Given the description of an element on the screen output the (x, y) to click on. 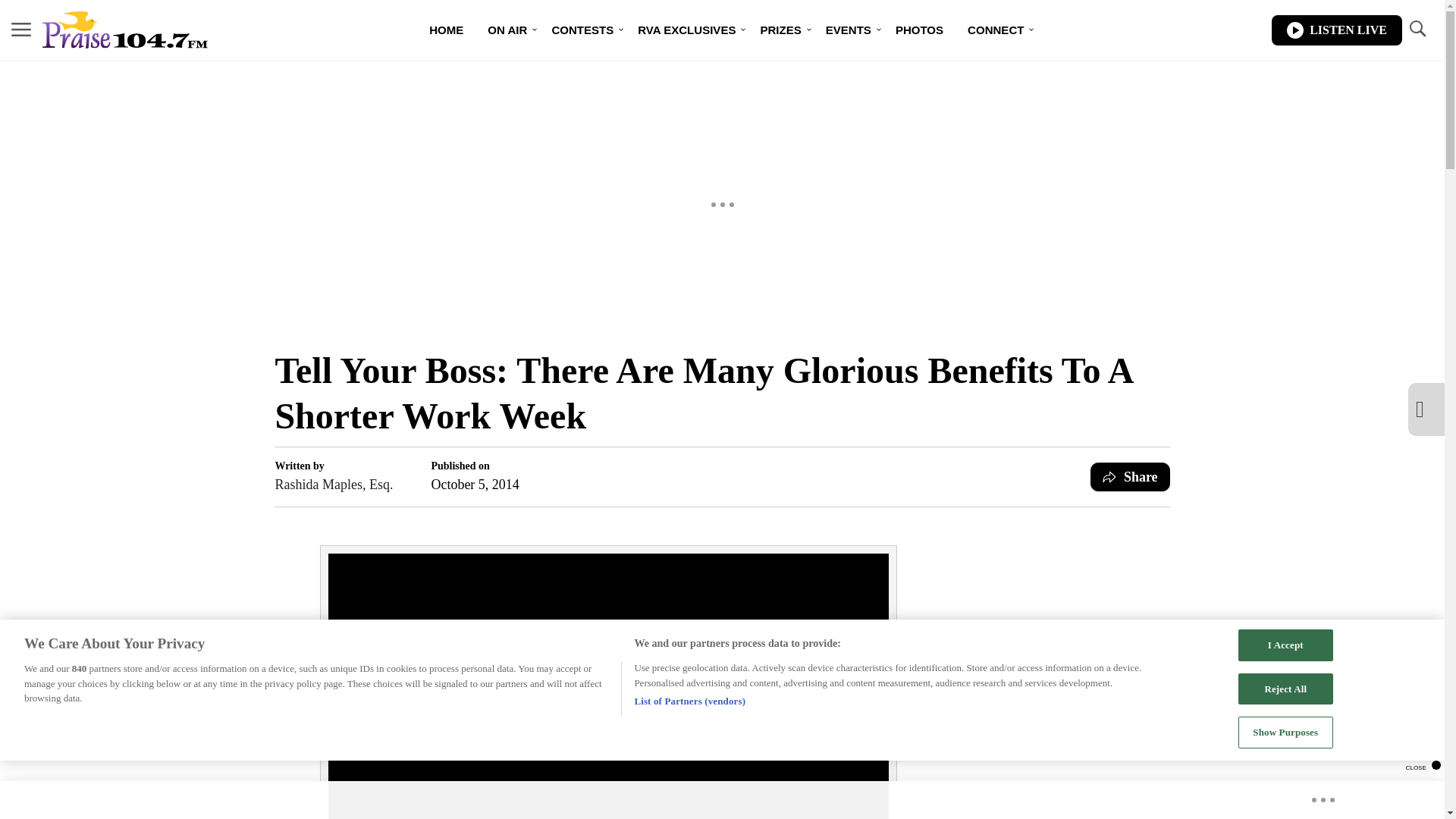
TOGGLE SEARCH (1417, 30)
LISTEN LIVE (1336, 30)
EVENTS (848, 30)
PHOTOS (919, 30)
PRIZES (780, 30)
HOME (446, 30)
MENU (20, 29)
TOGGLE SEARCH (1417, 28)
CONTESTS (582, 30)
CONNECT (995, 30)
ON AIR (507, 30)
MENU (20, 30)
RVA EXCLUSIVES (687, 30)
